Given the description of an element on the screen output the (x, y) to click on. 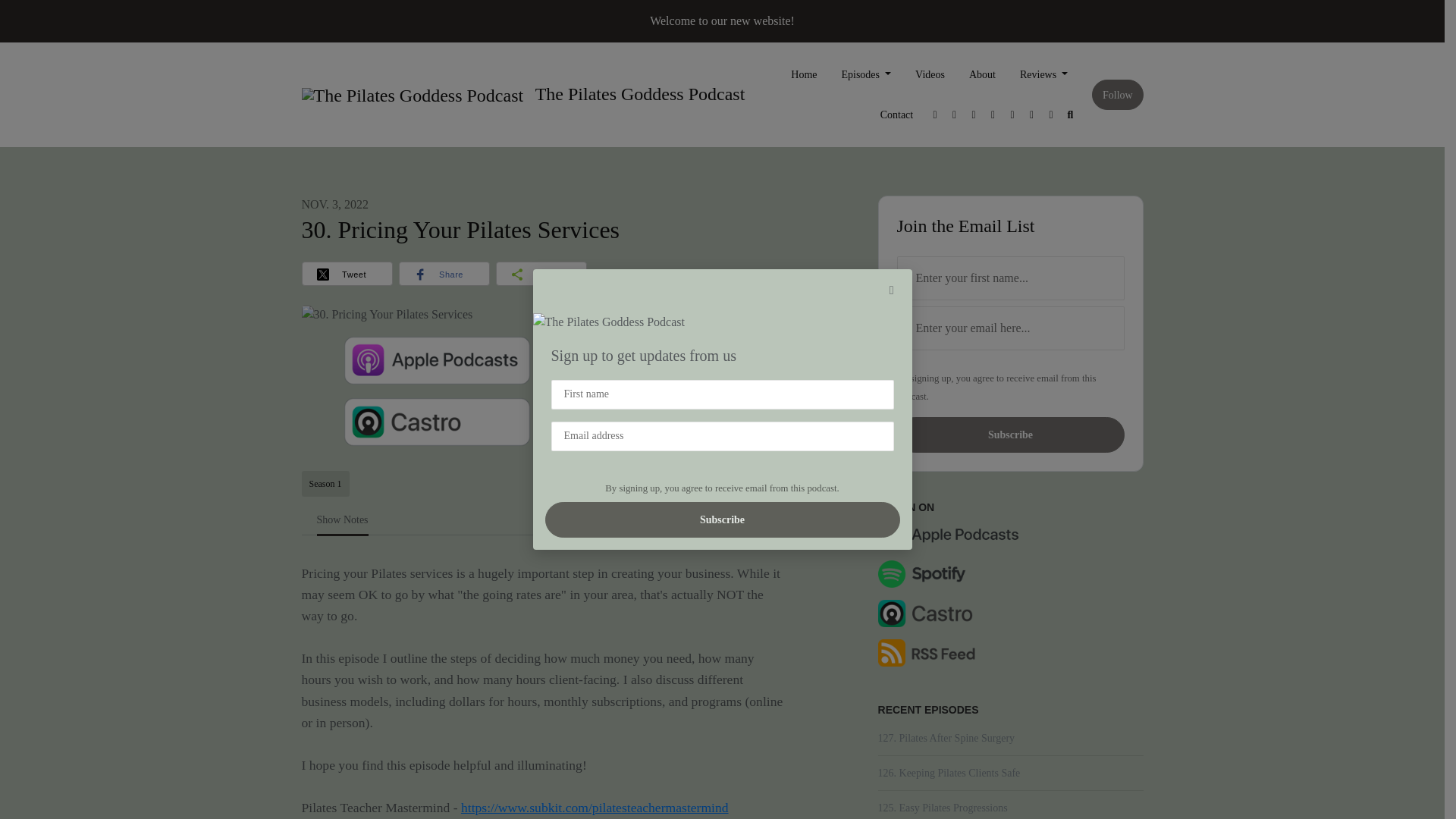
Reviews (1043, 74)
30. Pricing Your Pilates Services (387, 314)
Contact (896, 115)
Subscribe (721, 519)
The Pilates Goddess Podcast (517, 94)
Follow (1117, 94)
About (981, 74)
Episodes (865, 74)
Videos (929, 74)
The Pilates Goddess Podcast (412, 95)
Home (803, 74)
The Pilates Goddess Podcast (608, 321)
